Given the description of an element on the screen output the (x, y) to click on. 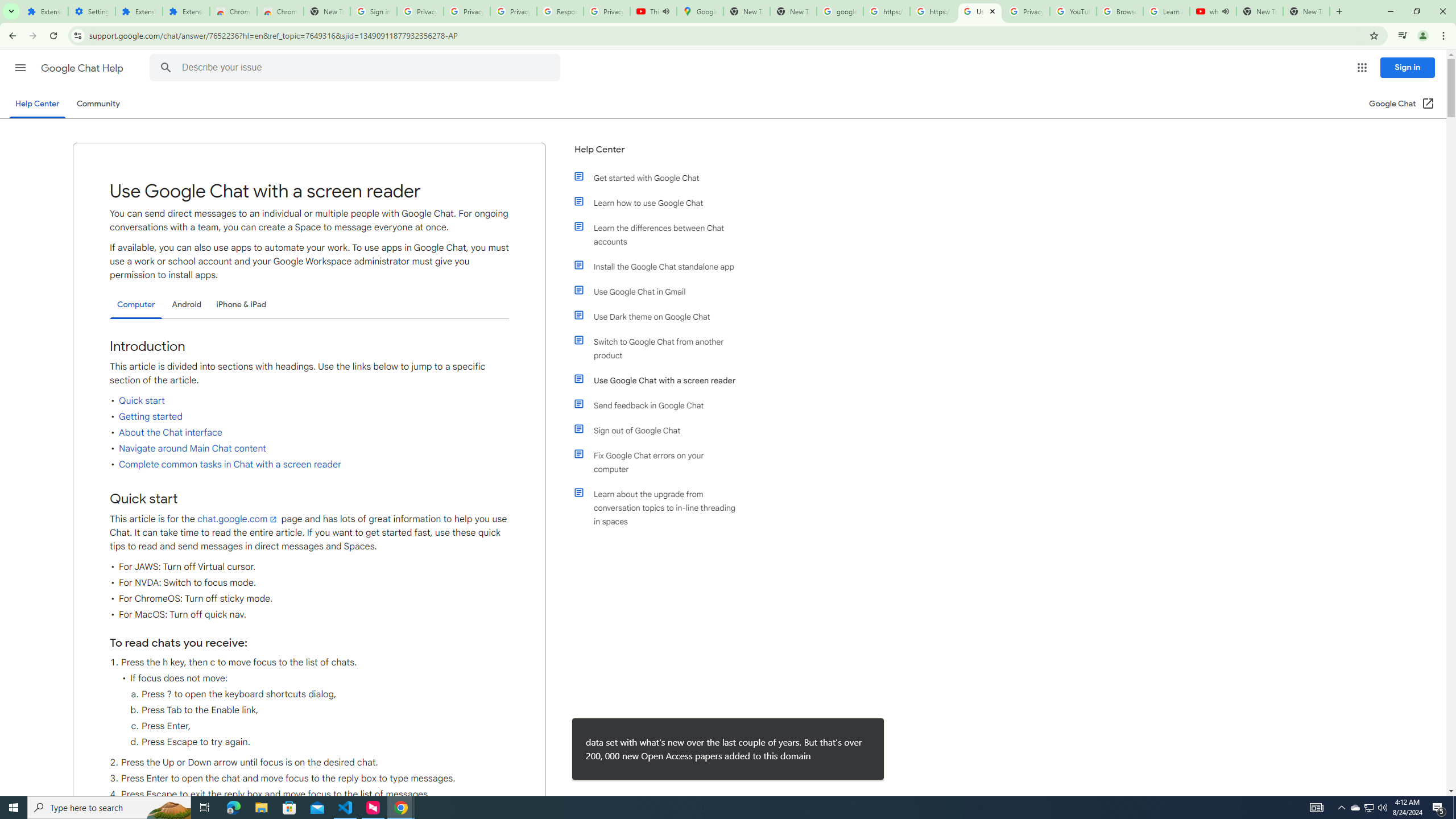
iPhone & iPad (240, 304)
Switch to Google Chat from another product (661, 348)
Browse Chrome as a guest - Computer - Google Chrome Help (1120, 11)
About the Chat interface (170, 432)
Use Google Chat in Gmail (661, 291)
Extensions (138, 11)
Describe your issue (356, 67)
